Given the description of an element on the screen output the (x, y) to click on. 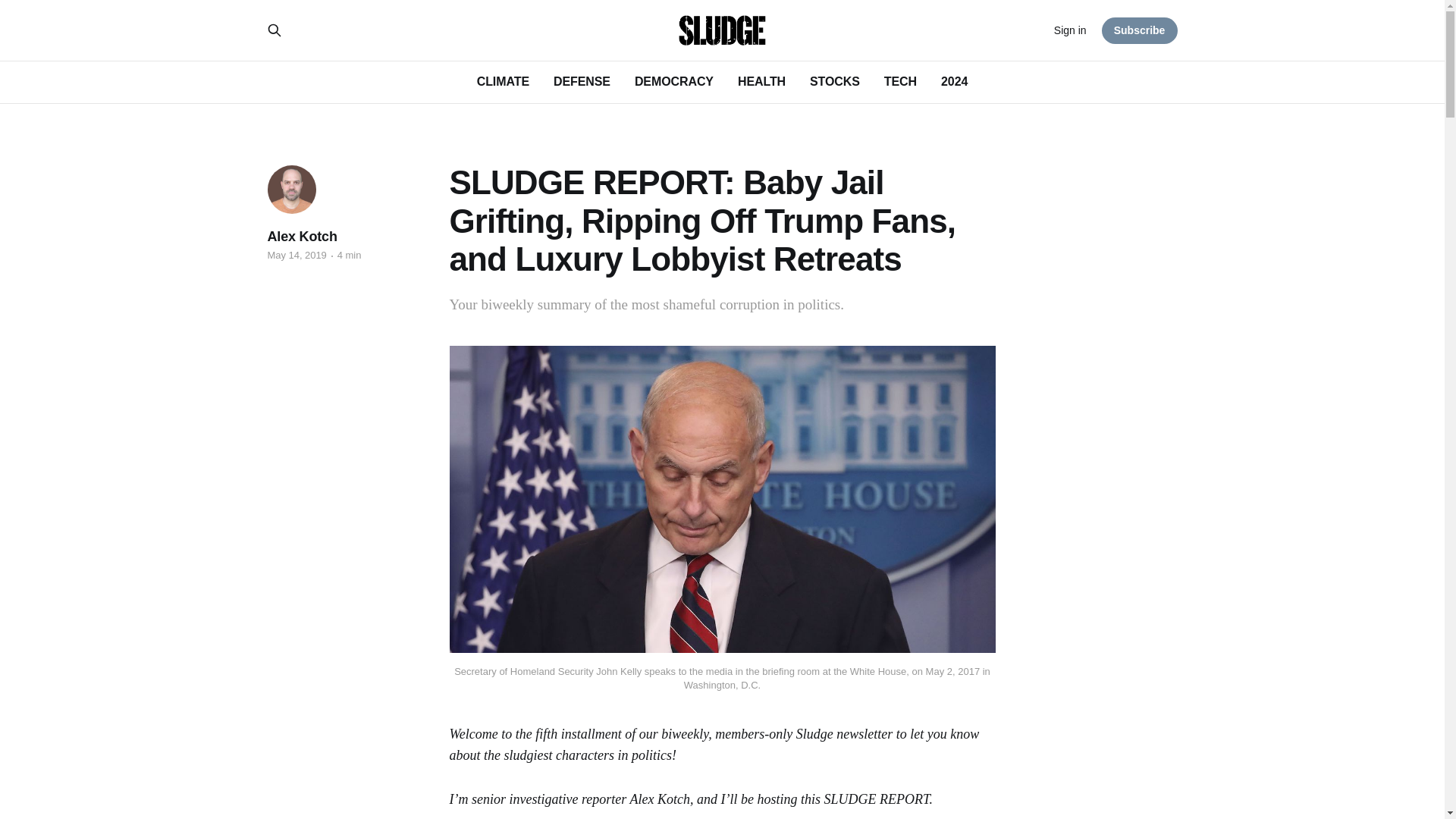
2024 (954, 81)
Alex Kotch (301, 236)
Sign in (1070, 30)
HEALTH (762, 81)
Subscribe (1139, 29)
DEMOCRACY (673, 81)
DEFENSE (581, 81)
TECH (900, 81)
CLIMATE (503, 81)
STOCKS (834, 81)
